Given the description of an element on the screen output the (x, y) to click on. 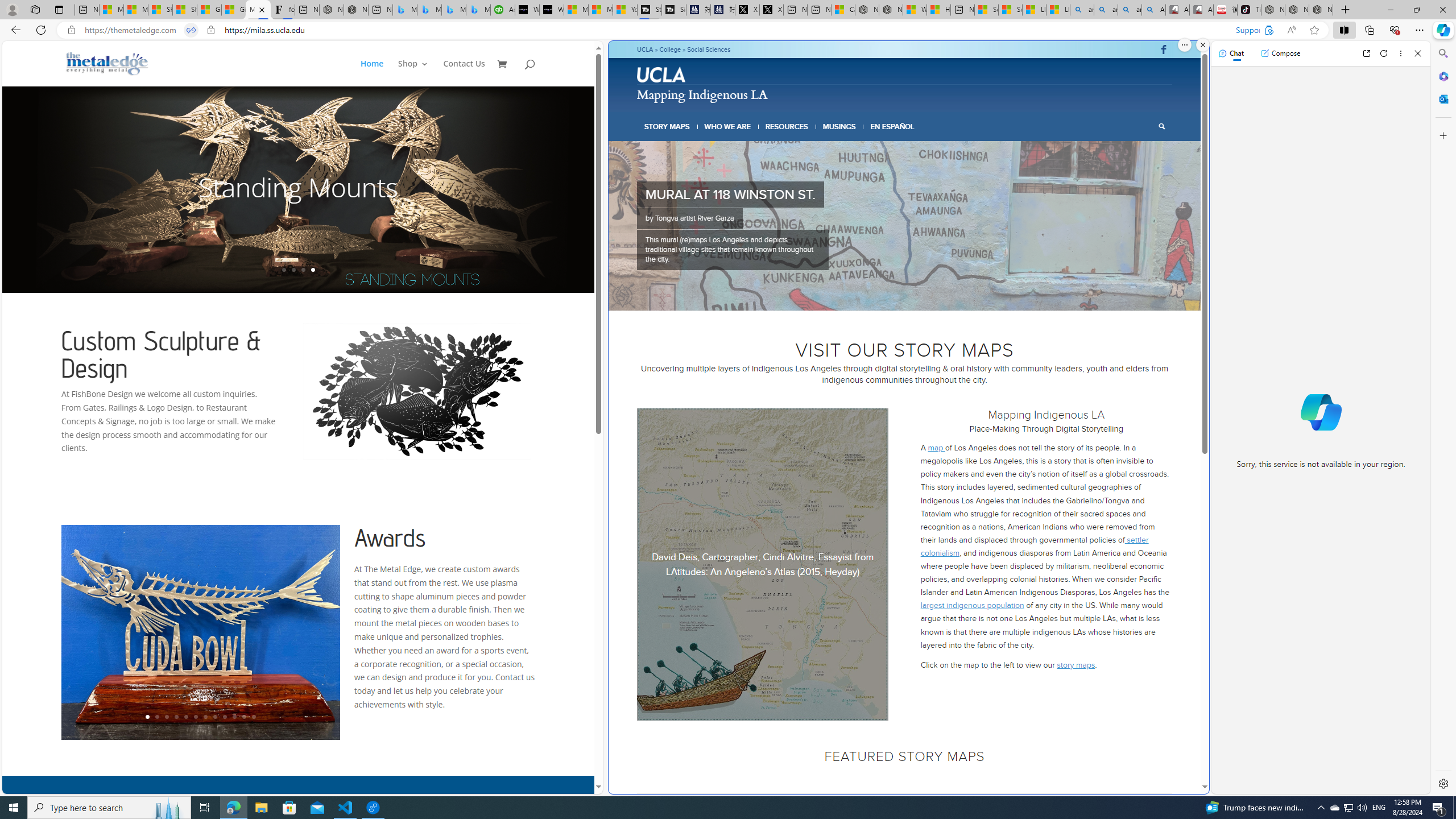
Gilma and Hector both pose tropical trouble for Hawaii (233, 9)
Microsoft Bing Travel - Shangri-La Hotel Bangkok (478, 9)
App bar (728, 29)
Outlook (1442, 98)
2 (881, 296)
7 (927, 296)
WHO WE ARE (727, 126)
Shanghai, China weather forecast | Microsoft Weather (184, 9)
Support THE UCLA FOUNDATION? (1268, 29)
largest indigenous population (972, 605)
